Given the description of an element on the screen output the (x, y) to click on. 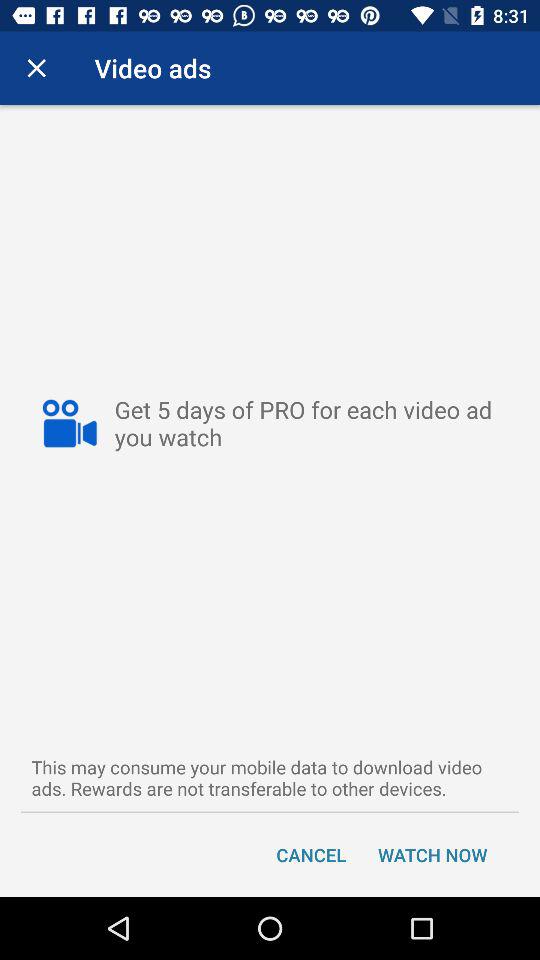
select the item to the right of the cancel item (432, 854)
